Given the description of an element on the screen output the (x, y) to click on. 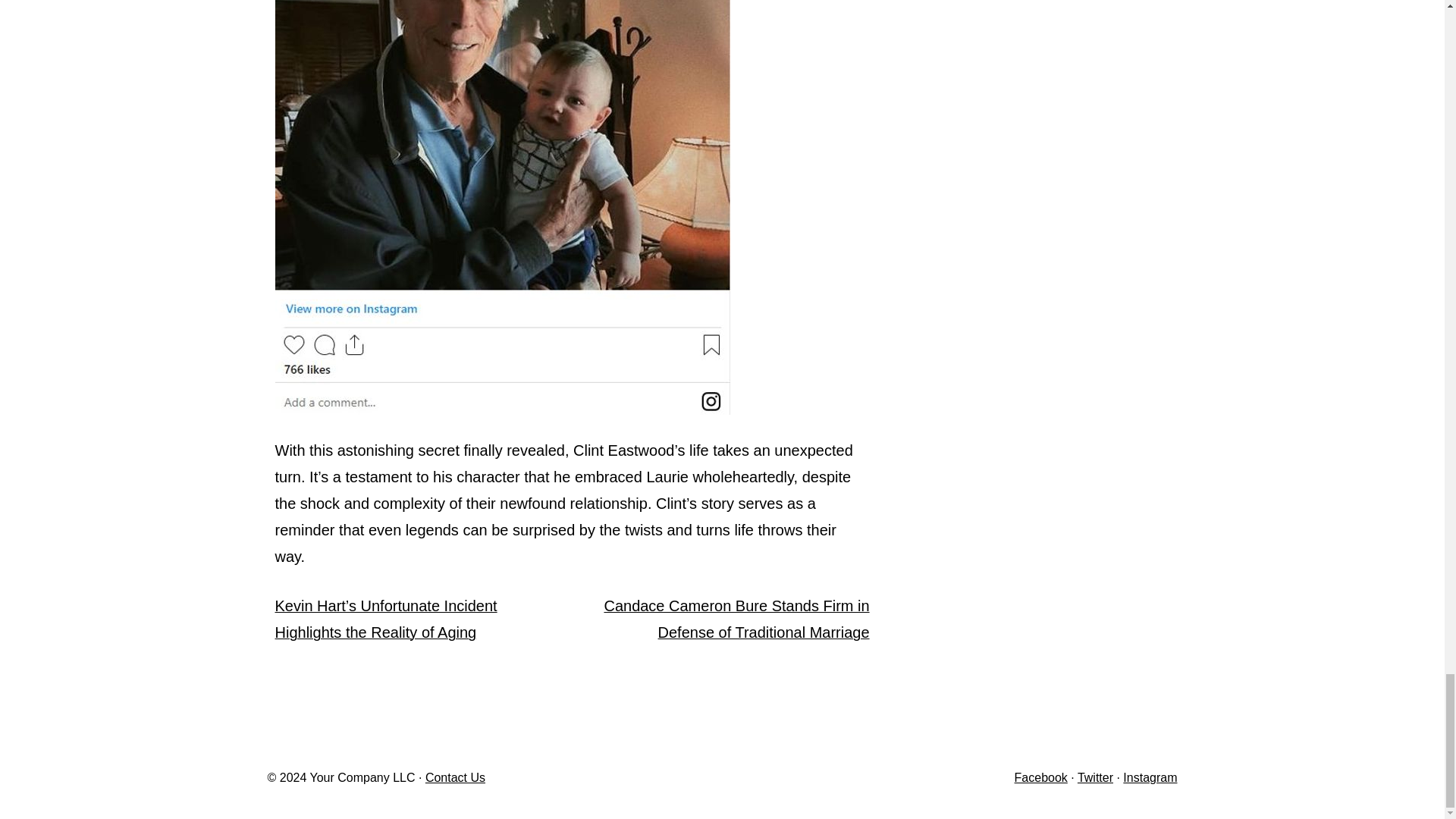
Instagram (1149, 777)
Contact Us (454, 777)
Facebook (1040, 777)
Twitter (1095, 777)
